Given the description of an element on the screen output the (x, y) to click on. 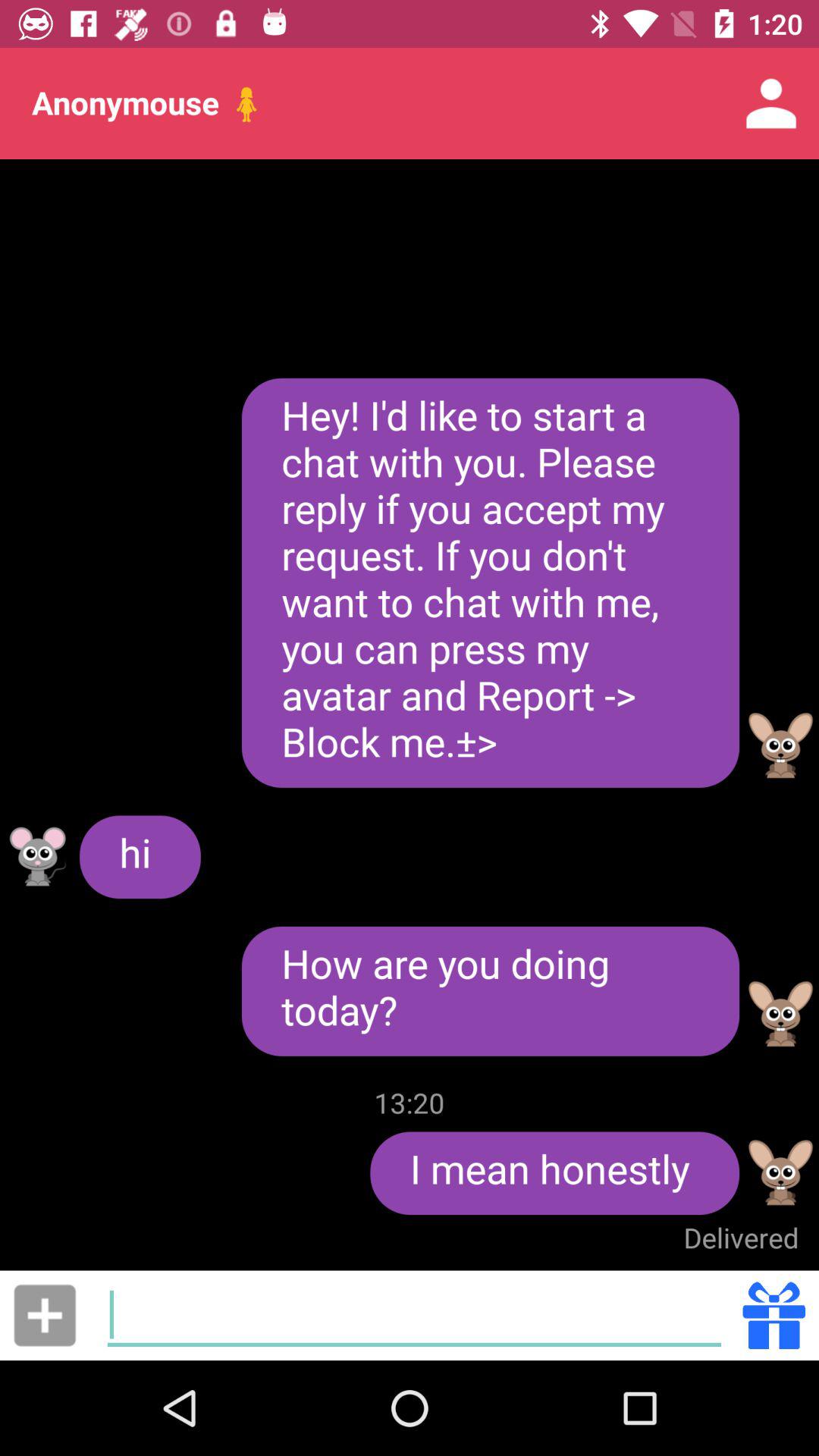
add person (44, 1315)
